Given the description of an element on the screen output the (x, y) to click on. 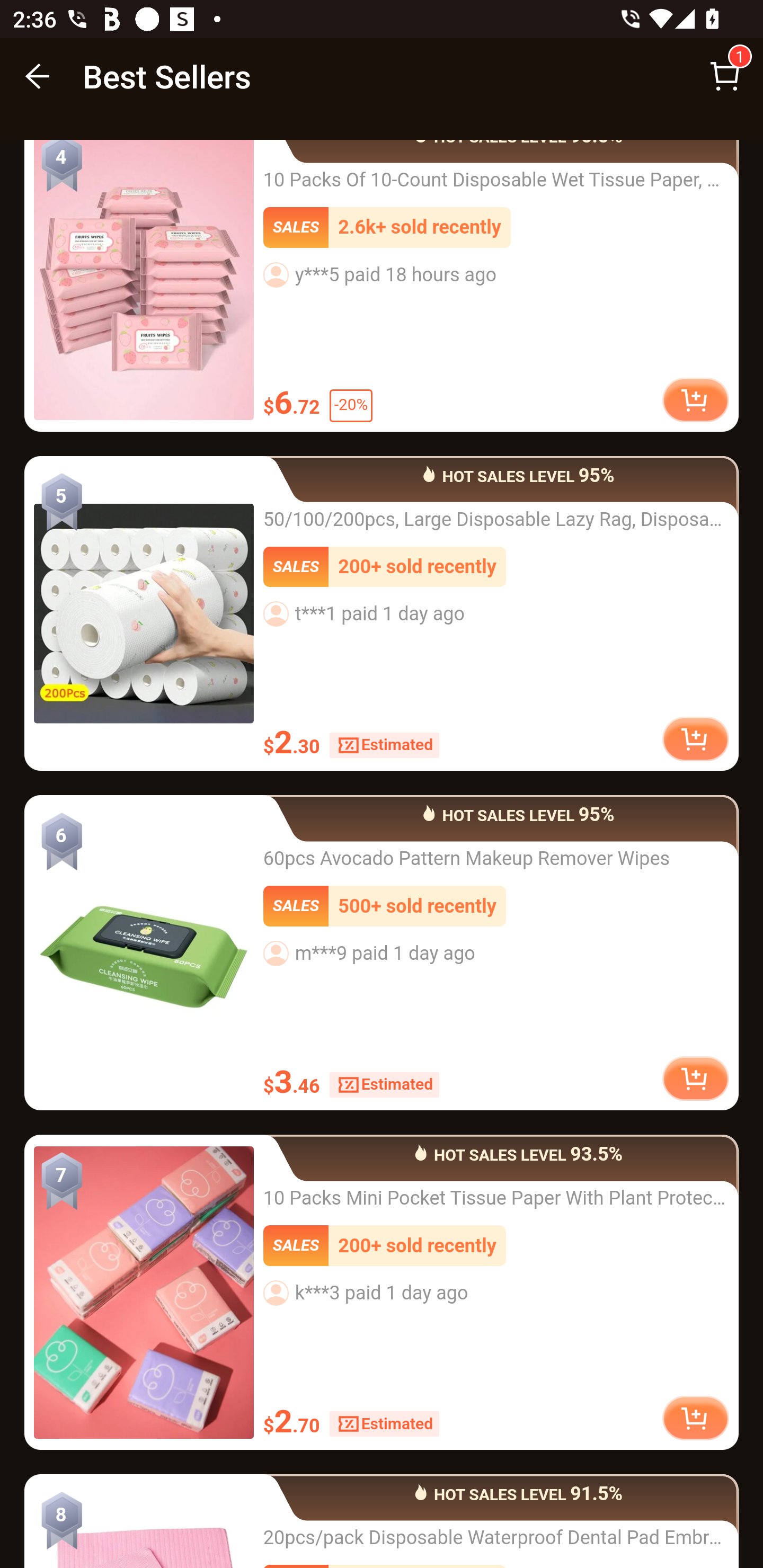
BACK (38, 75)
Cart 1 (724, 75)
add to cart (695, 400)
add to cart (695, 739)
60pcs Avocado Pattern Makeup Remover Wipes (143, 953)
add to cart (695, 1079)
add to cart (695, 1417)
